Given the description of an element on the screen output the (x, y) to click on. 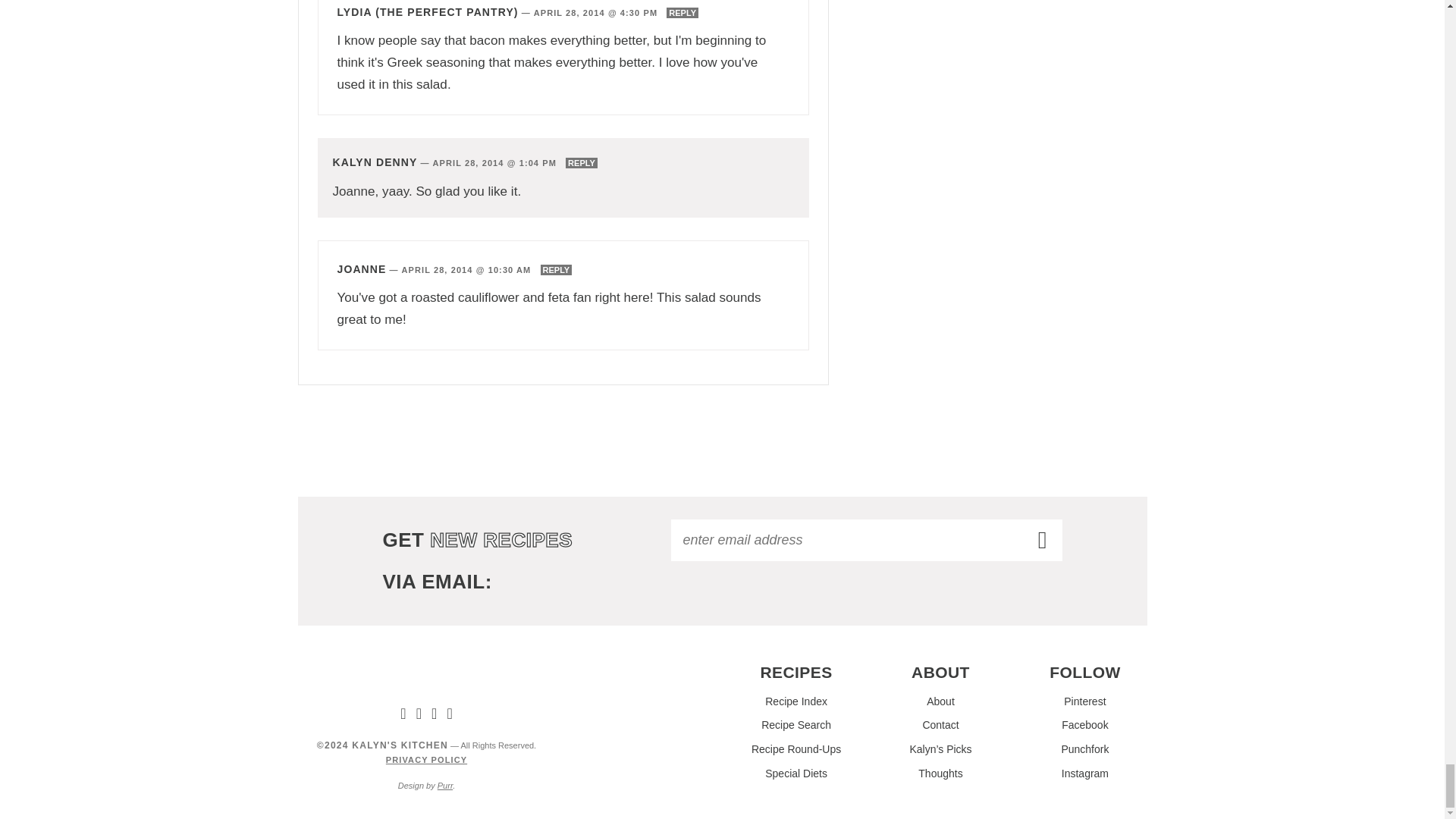
Kalyn's Kitchen (426, 675)
